Given the description of an element on the screen output the (x, y) to click on. 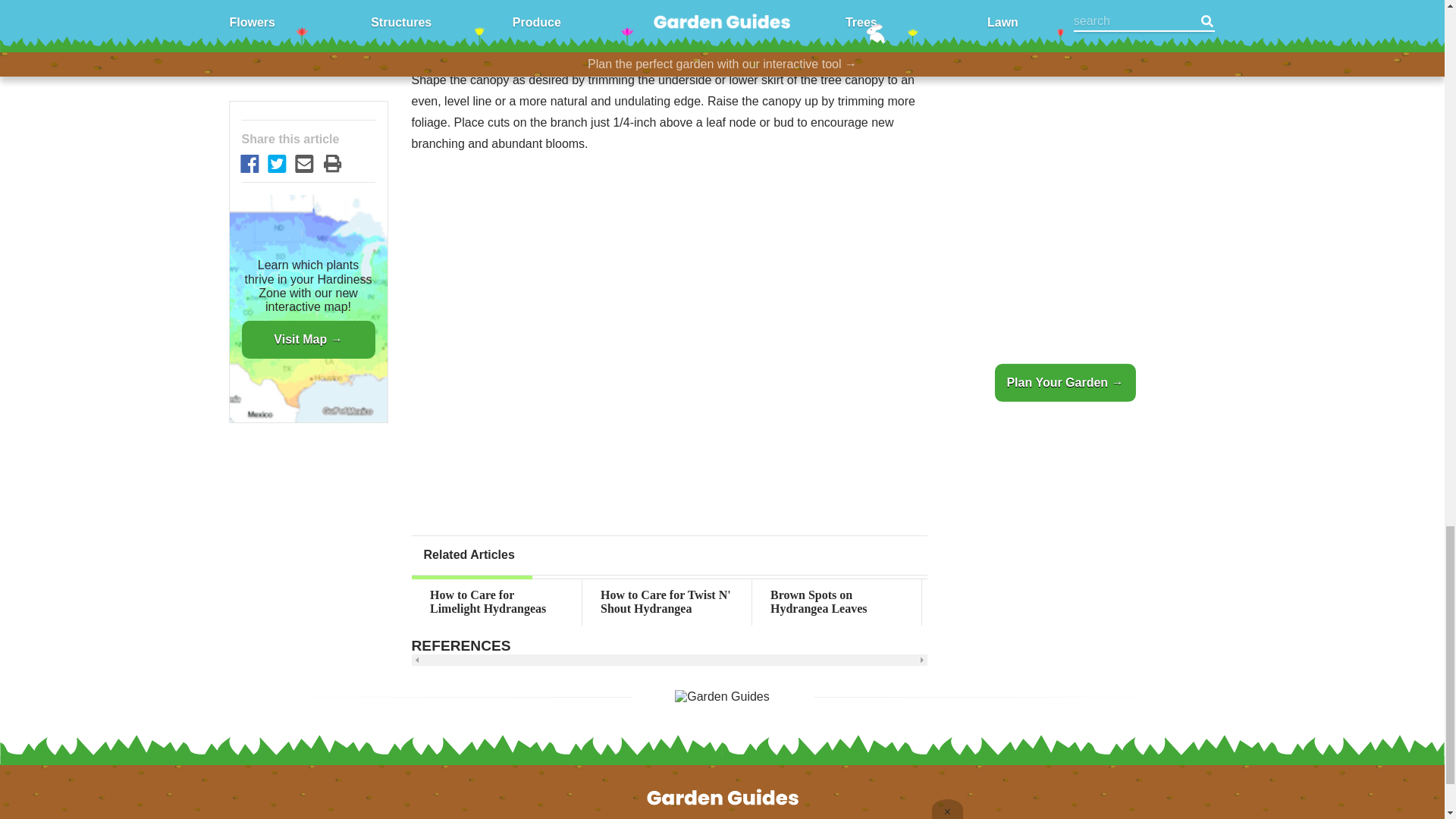
Flowers (573, 818)
Brown Spots on Hydrangea Leaves (836, 602)
pH for Hydrangea Colors (1176, 602)
How to Cut Back a Ficus Tree (1346, 602)
How to Care for Twist N' Shout Hydrangea (666, 602)
How to Prune a PJM Rhododendron (1005, 602)
How to Care for Limelight Hydrangeas (495, 602)
